Given the description of an element on the screen output the (x, y) to click on. 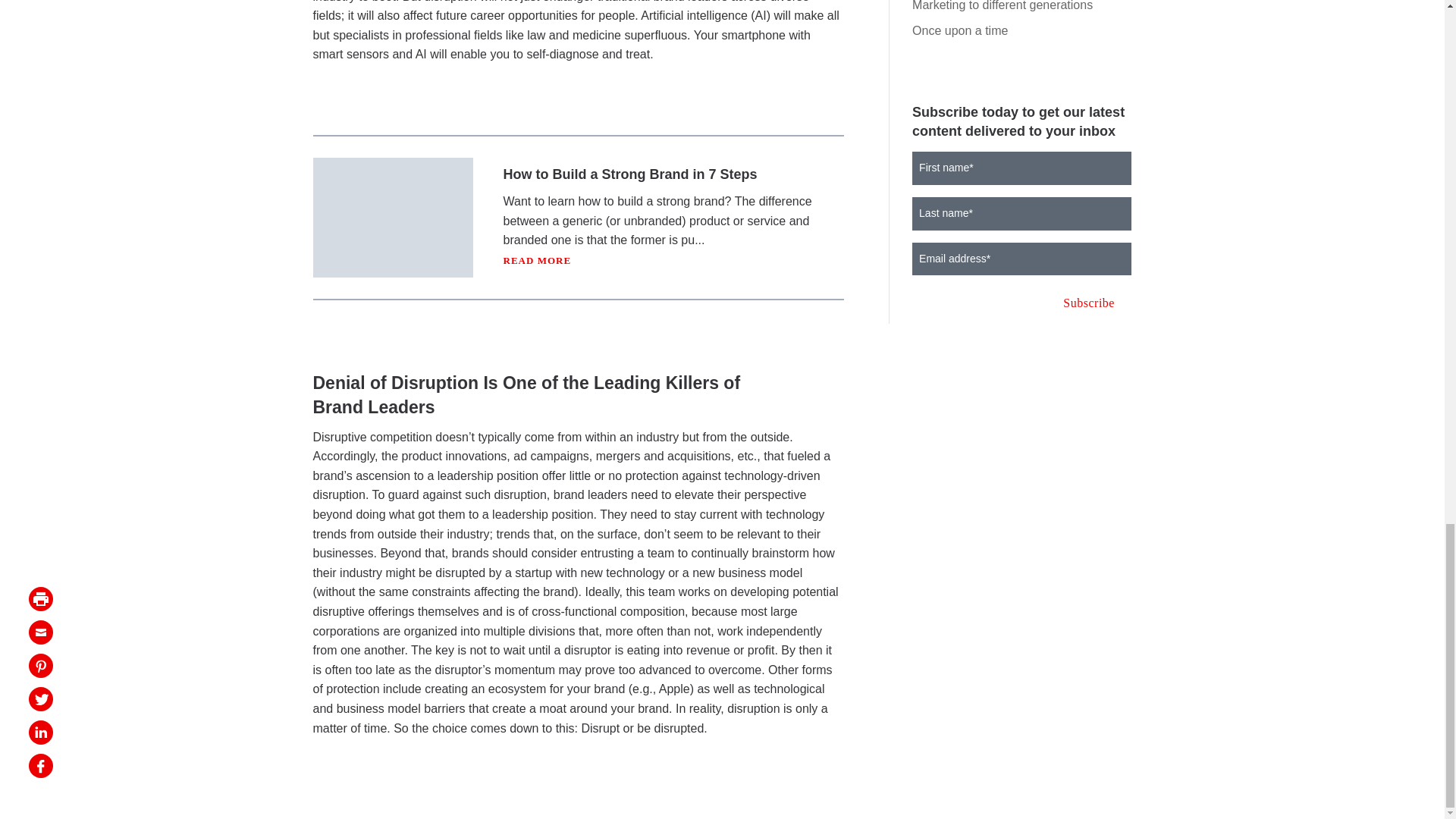
READ MORE (537, 260)
